Given the description of an element on the screen output the (x, y) to click on. 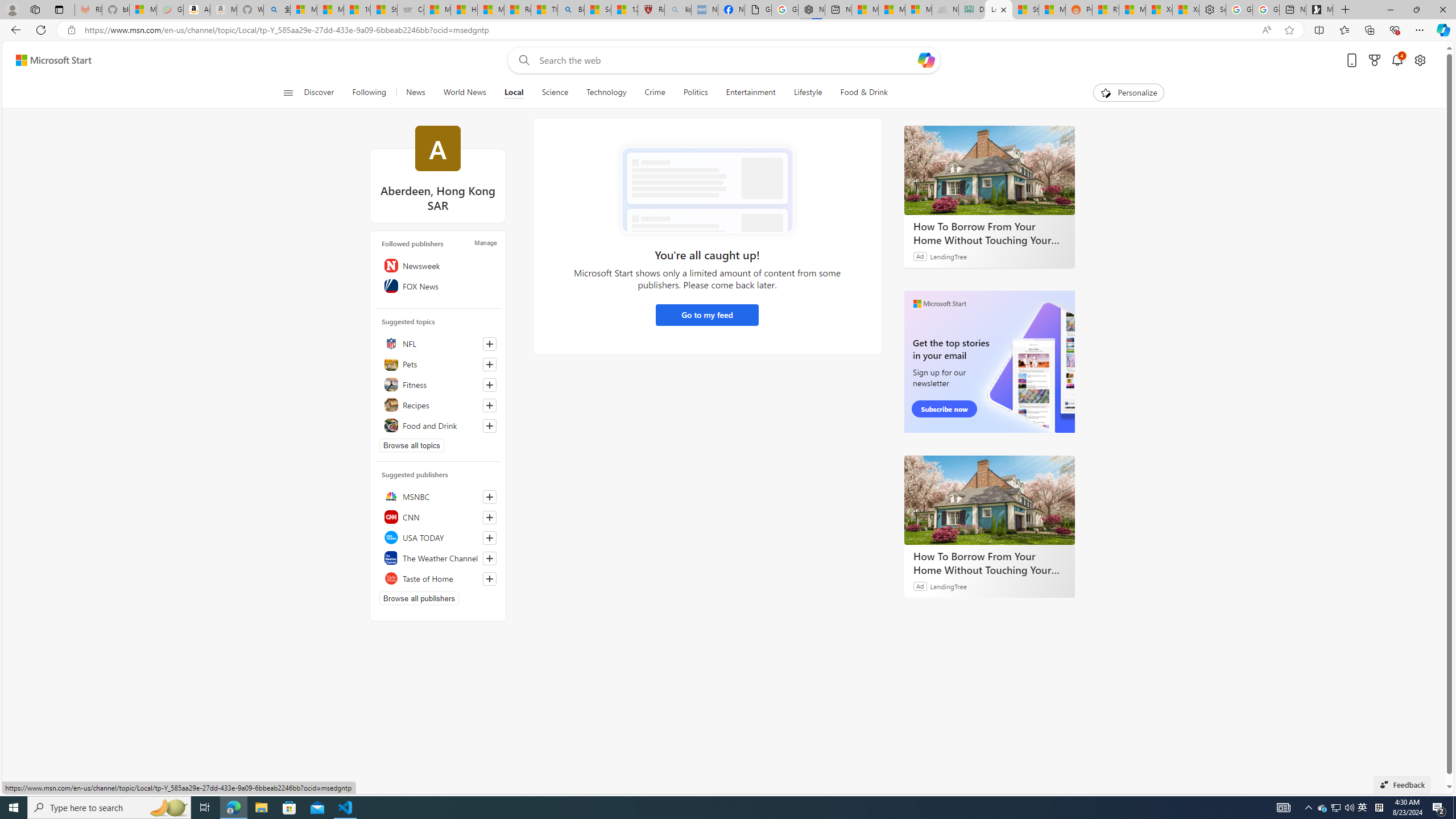
Browse all topics (412, 445)
